Given the description of an element on the screen output the (x, y) to click on. 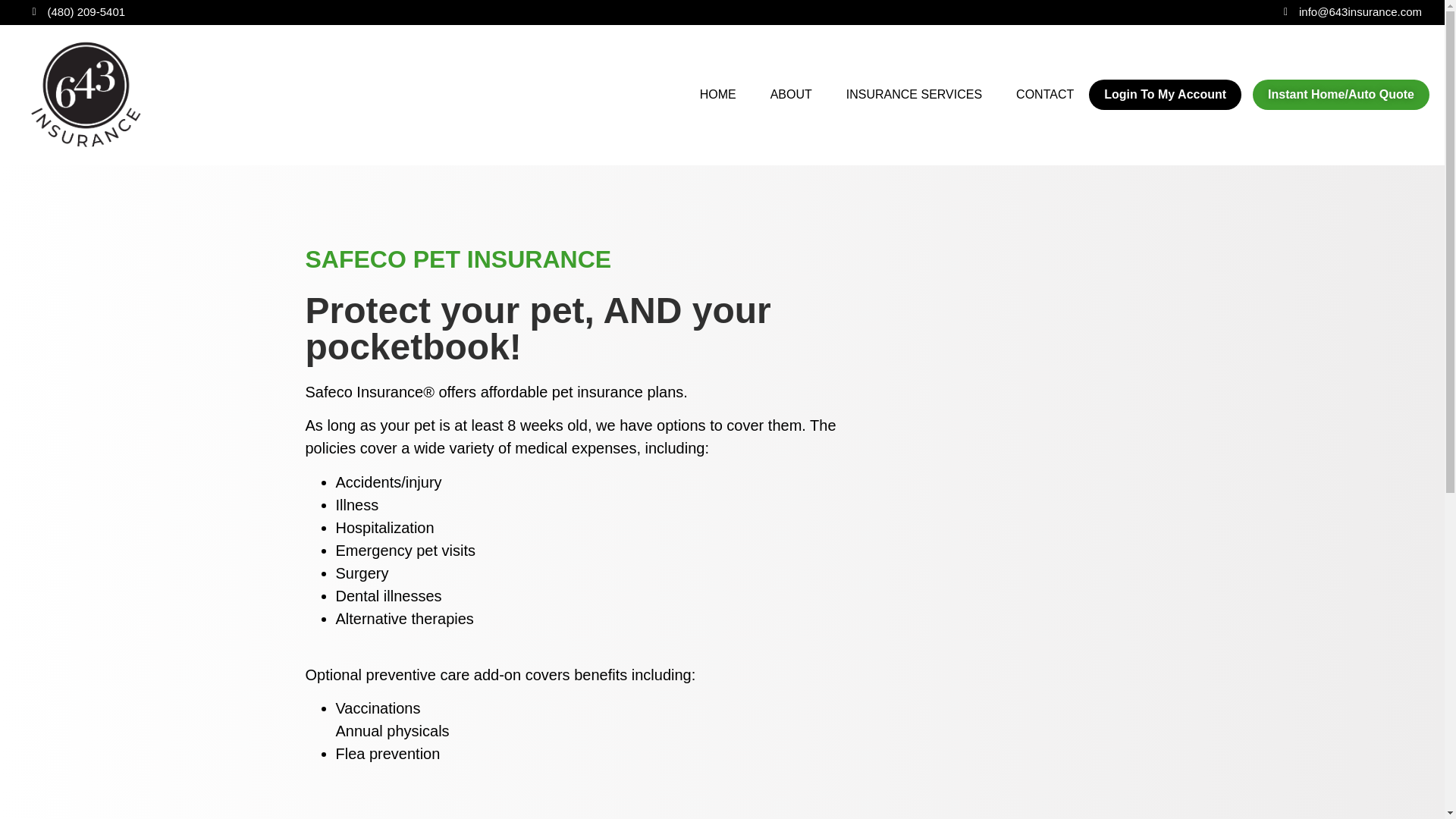
CONTACT (1045, 94)
Login To My Account (1165, 94)
HOME (717, 94)
INSURANCE SERVICES (914, 94)
ABOUT (791, 94)
